Given the description of an element on the screen output the (x, y) to click on. 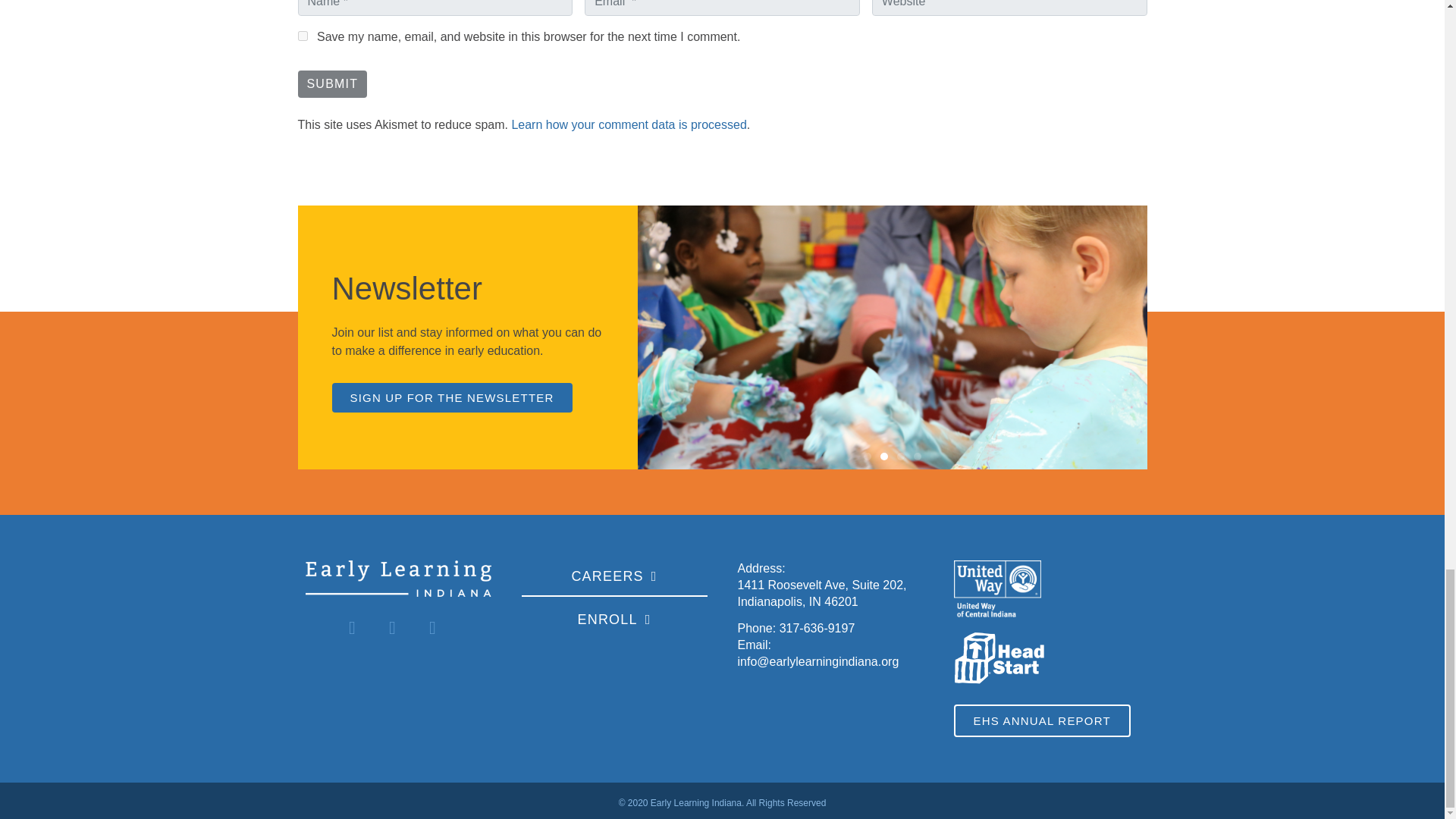
yes (302, 35)
head-start-logo-color (999, 658)
